Given the description of an element on the screen output the (x, y) to click on. 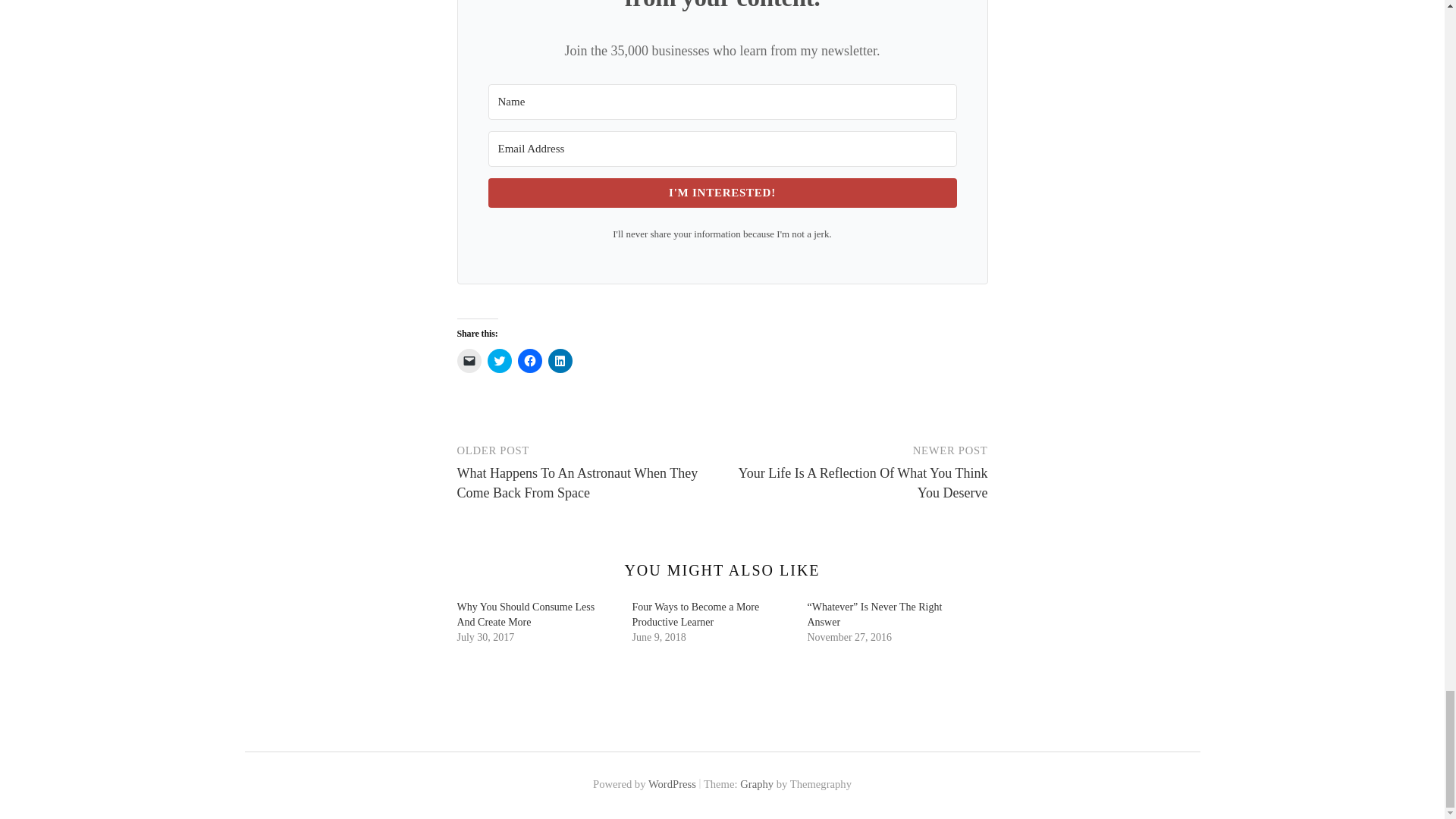
Graphy (756, 784)
Click to share on LinkedIn (559, 360)
Why You Should Consume Less And Create More (525, 614)
Your Life Is A Reflection Of What You Think You Deserve (862, 482)
Four Ways to Become a More Productive Learner (695, 614)
Click to share on Facebook (528, 360)
What Happens To An Astronaut When They Come Back From Space (577, 482)
Why You Should Consume Less And Create More (525, 614)
Click to share on Twitter (498, 360)
Four Ways to Become a More Productive Learner (695, 614)
I'M INTERESTED! (721, 193)
WordPress (671, 784)
Click to email a link to a friend (468, 360)
